Given the description of an element on the screen output the (x, y) to click on. 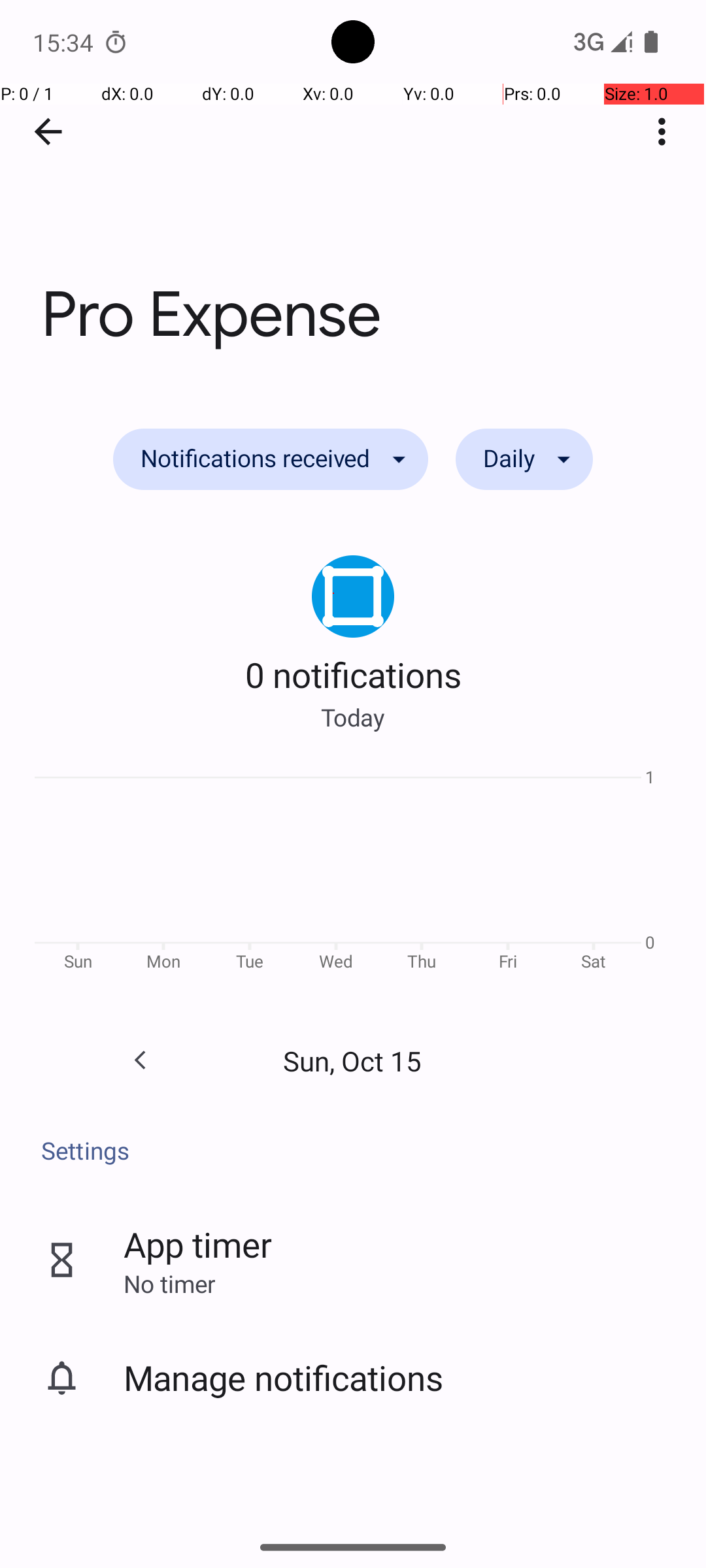
Notifications received Element type: android.widget.Spinner (270, 459)
0 notifications Element type: android.widget.TextView (353, 674)
Bar Chart. Showing App usage data with 7 data points. Element type: android.view.ViewGroup (353, 873)
